Given the description of an element on the screen output the (x, y) to click on. 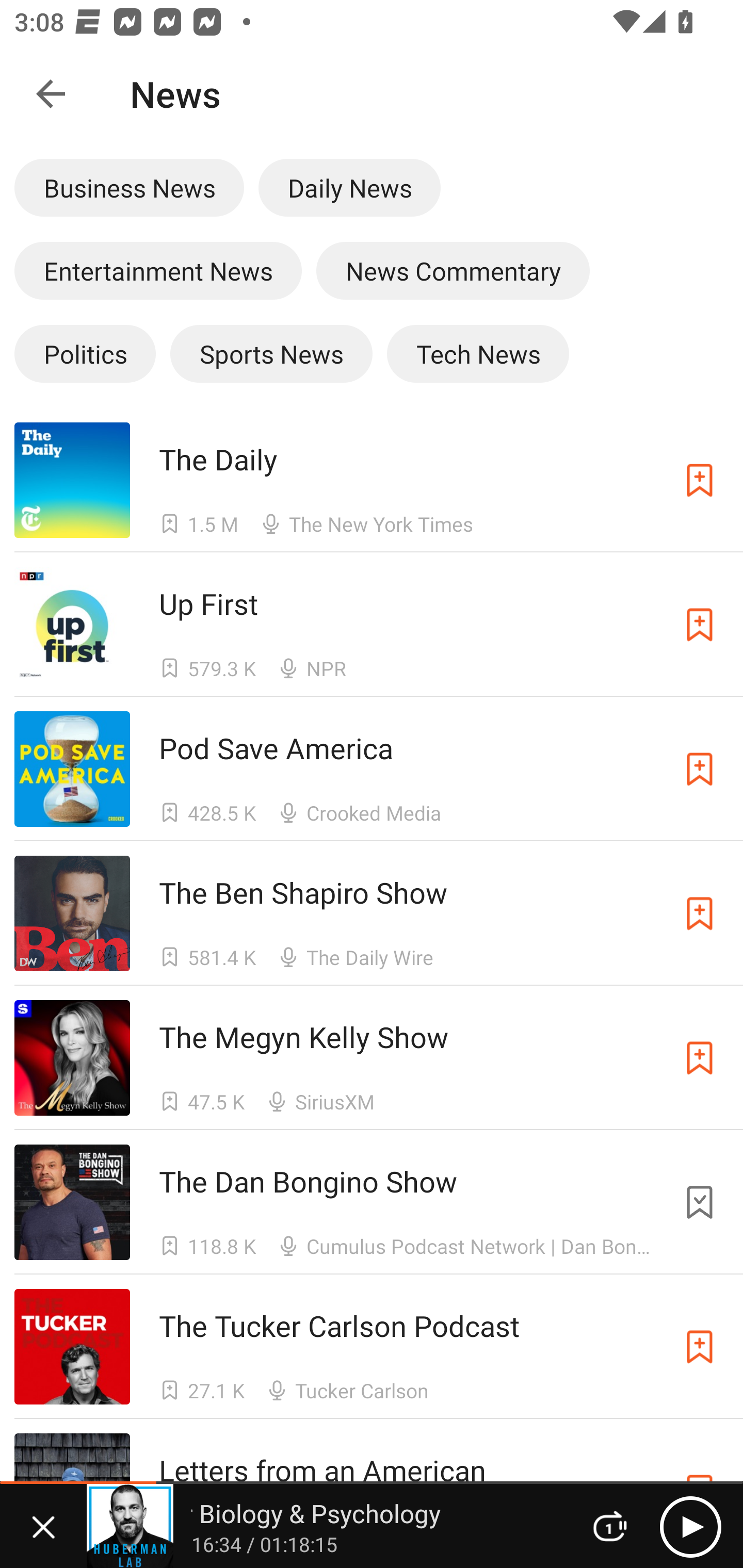
Navigate up (50, 93)
Business News (128, 187)
Daily News (349, 187)
Entertainment News (157, 270)
News Commentary (452, 270)
Politics (85, 353)
Sports News (271, 353)
Tech News (478, 353)
Subscribe (699, 479)
Up First Up First  579.3 K  NPR Subscribe (371, 623)
Subscribe (699, 624)
Subscribe (699, 768)
Subscribe (699, 913)
Subscribe (699, 1058)
Unsubscribe (699, 1202)
Subscribe (699, 1346)
Play (690, 1526)
